Given the description of an element on the screen output the (x, y) to click on. 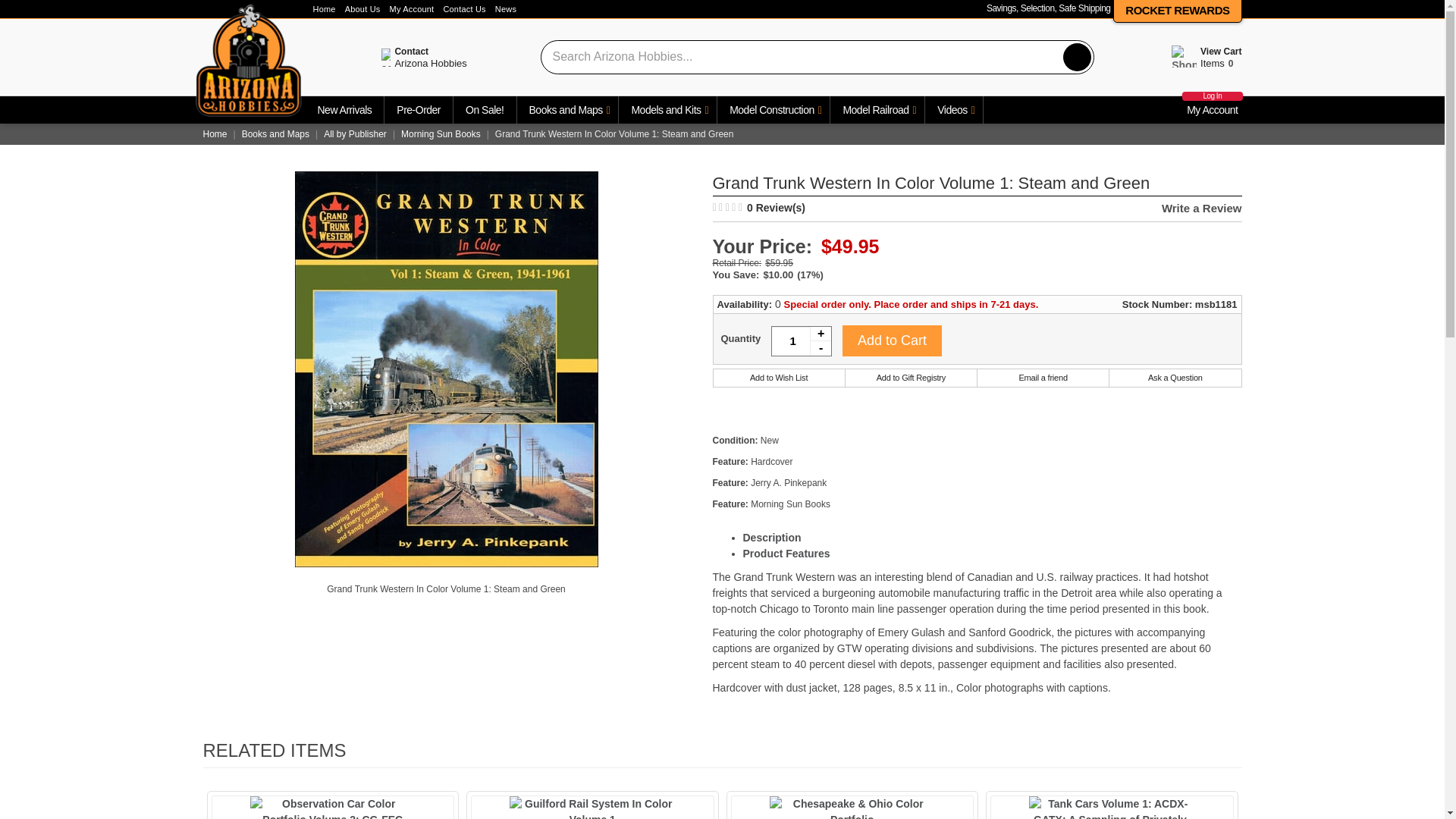
Model Railroad (876, 109)
Contact Us (458, 9)
Search button (1076, 56)
Model Construction (773, 109)
Books and Maps (567, 109)
My Account (406, 9)
Models and Kits (667, 109)
ROCKET REWARDS (1177, 10)
Videos (953, 109)
